Given the description of an element on the screen output the (x, y) to click on. 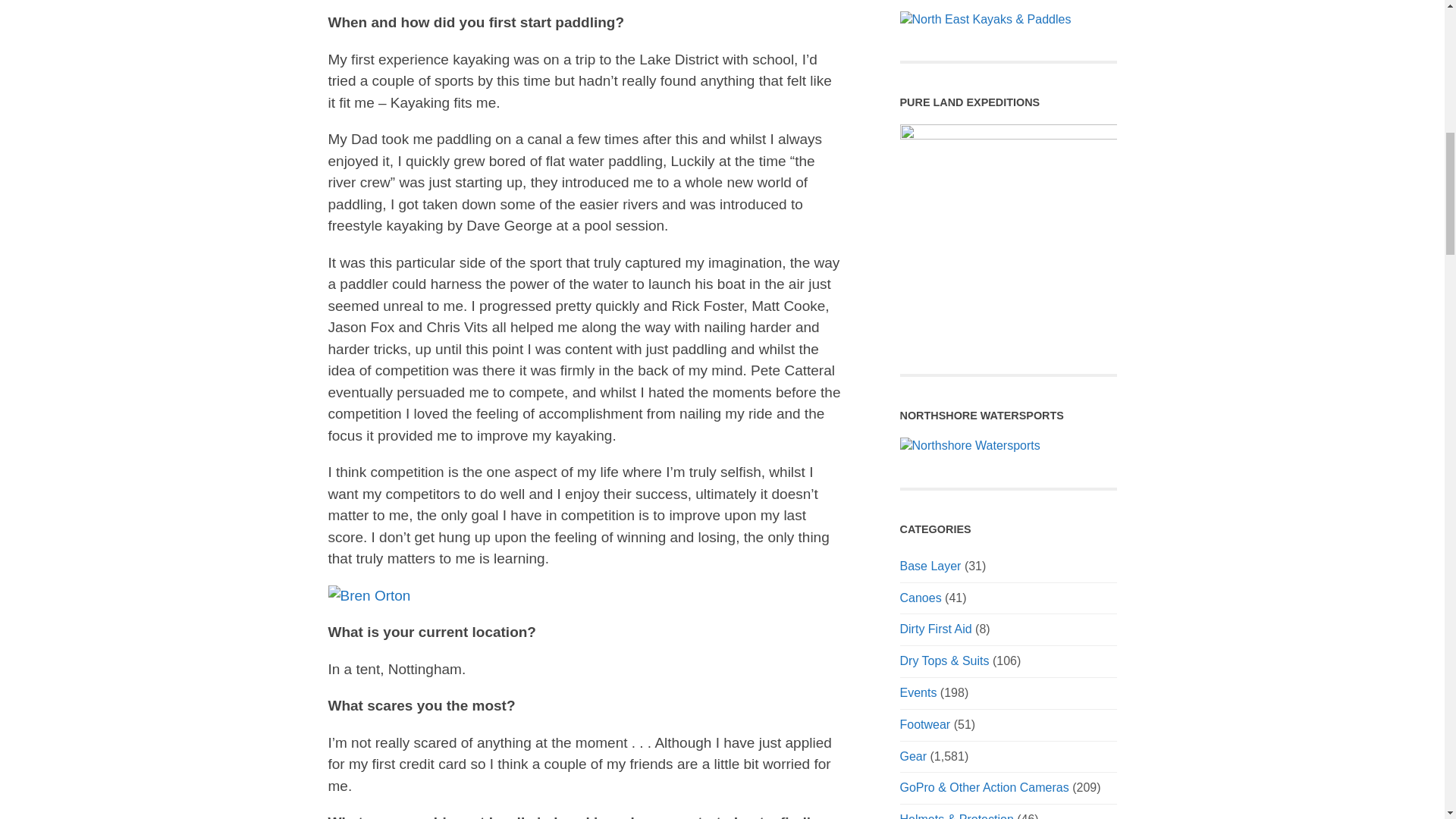
Bren Orton (368, 596)
